Given the description of an element on the screen output the (x, y) to click on. 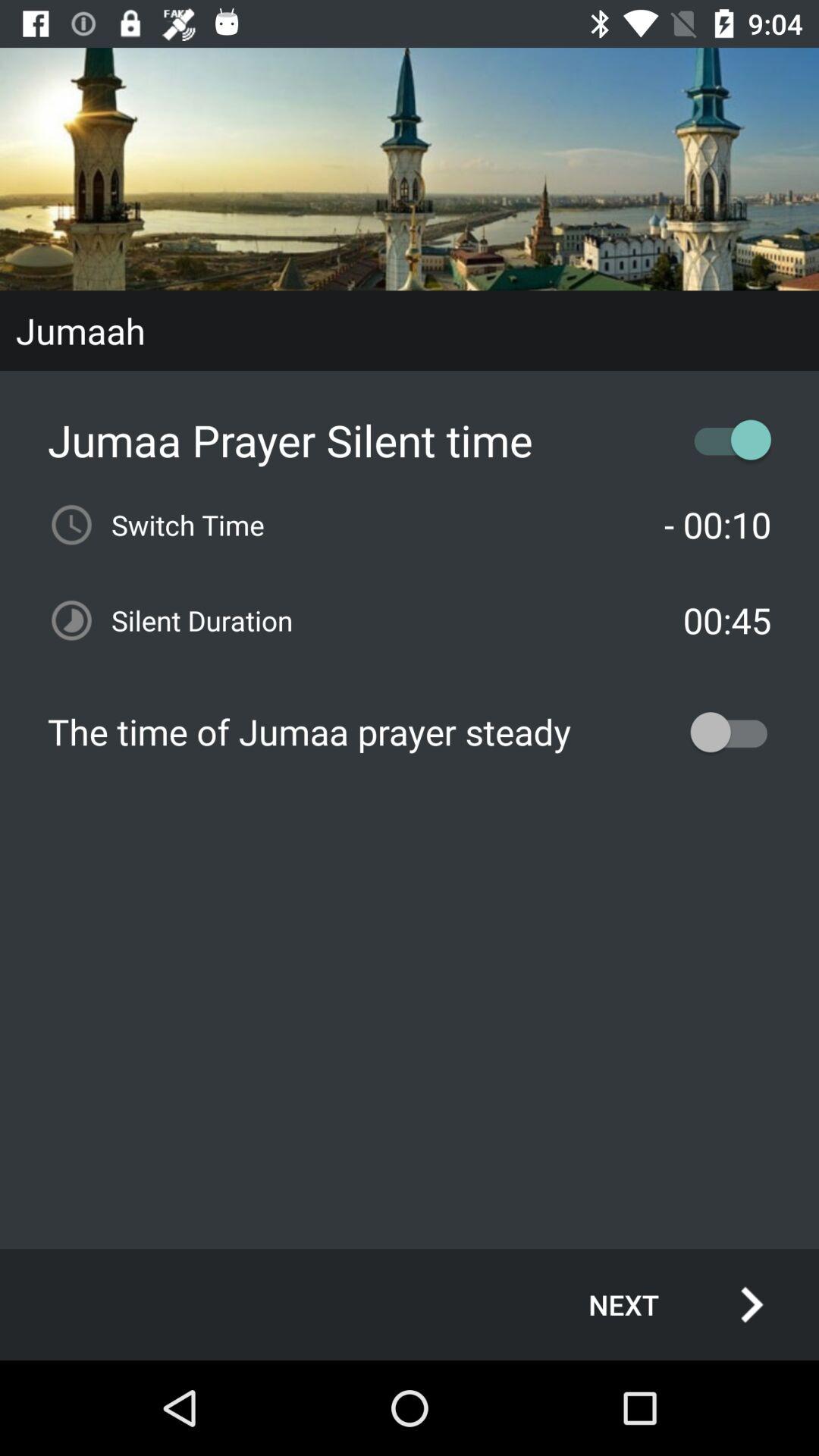
tap button at the bottom right corner (659, 1304)
